Given the description of an element on the screen output the (x, y) to click on. 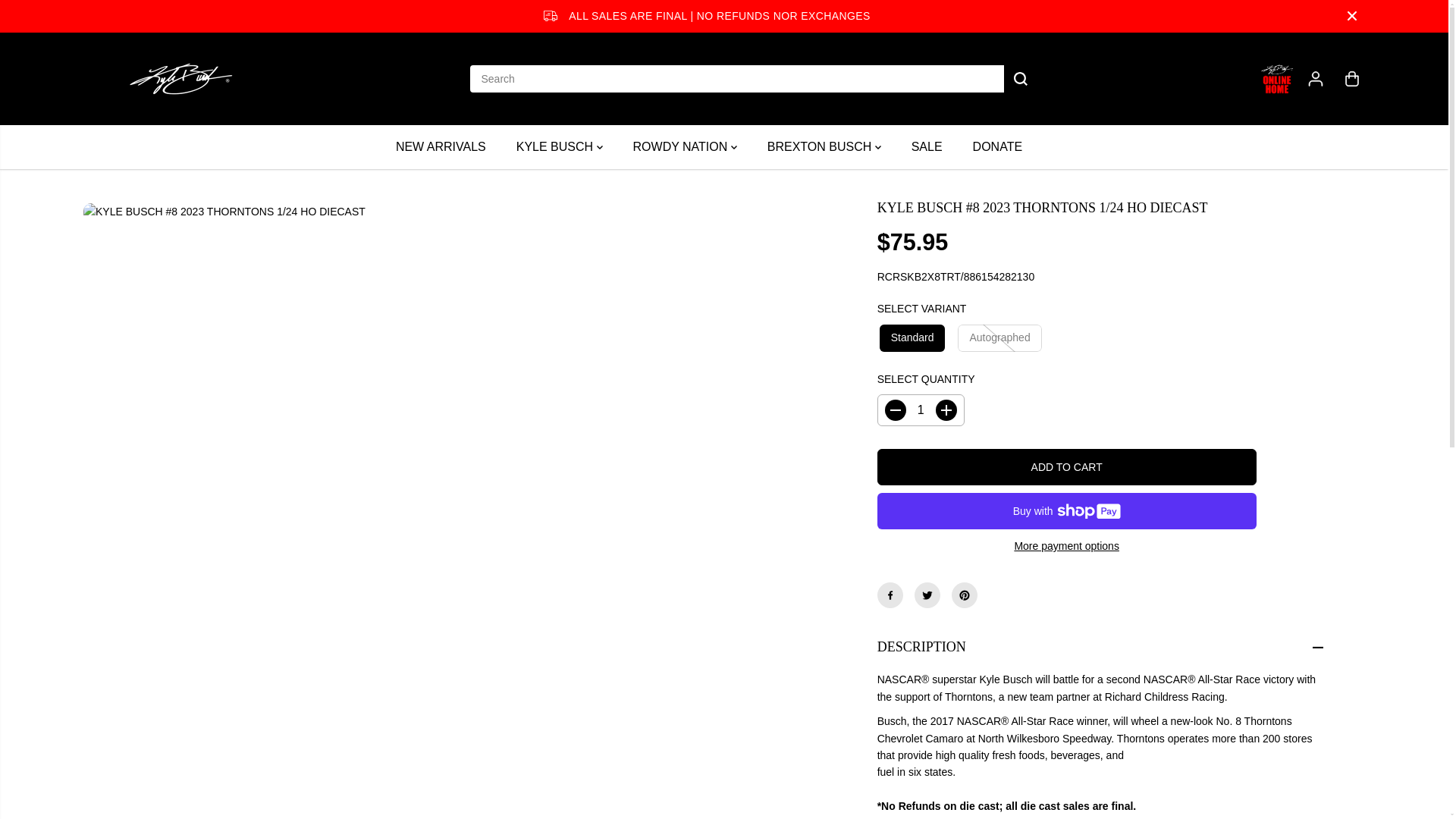
Standard (908, 338)
1 (920, 409)
Autographed (996, 338)
Cart (1351, 78)
SKIP TO CONTENT (60, 18)
SALE (938, 146)
Autographed (996, 338)
Facebook (889, 595)
NEW ARRIVALS (452, 146)
Pinterest (964, 595)
DONATE (1008, 146)
Twitter (927, 595)
Log in (1315, 78)
Standard (908, 338)
